Given the description of an element on the screen output the (x, y) to click on. 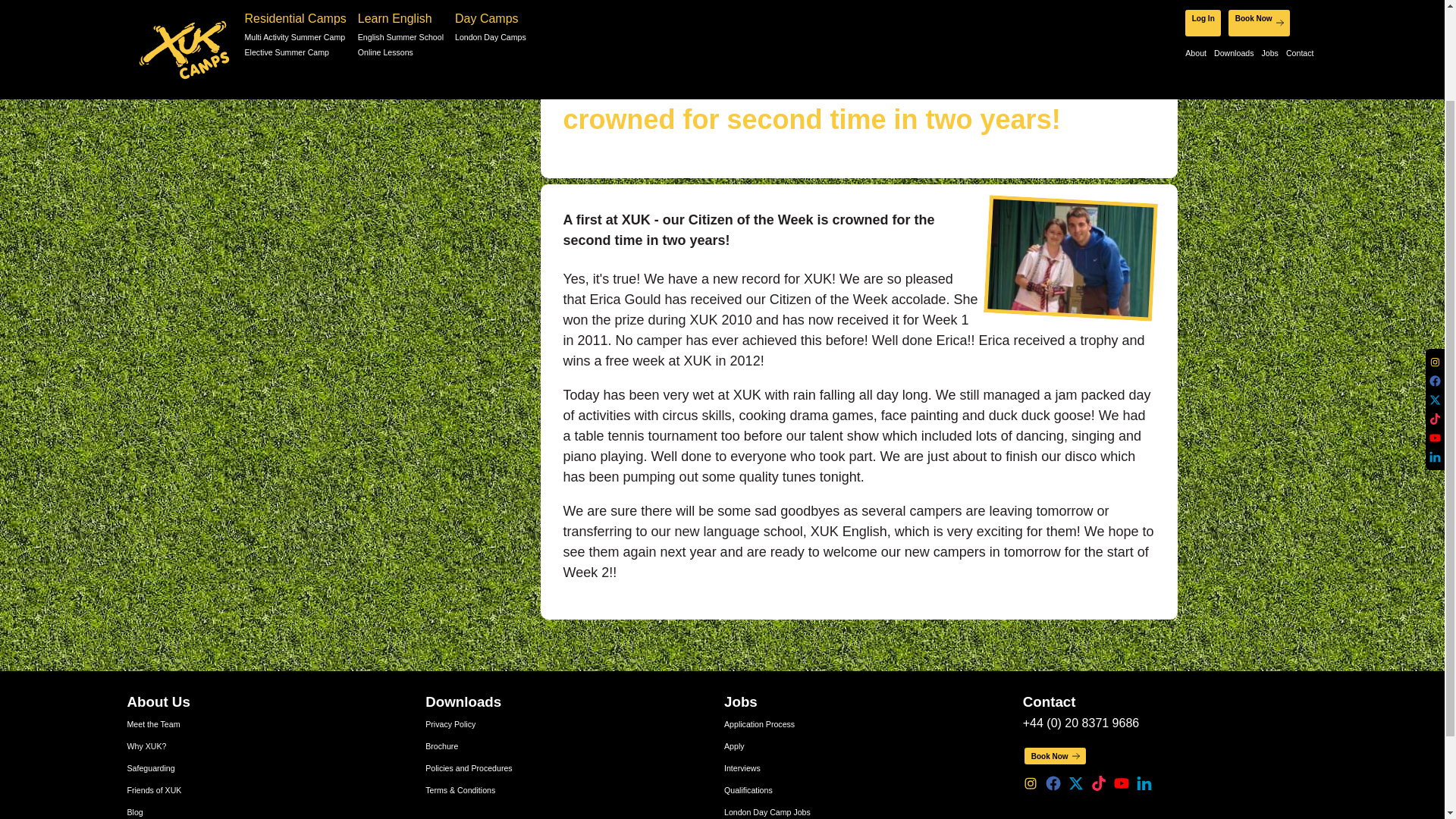
Facebook profile (1435, 265)
YouTube account (1435, 321)
Facebook profile (1053, 783)
Twitter account (1435, 283)
LinkedIn account (1144, 783)
TikTok account (1098, 783)
Twitter account (1075, 783)
YouTube account (1121, 783)
TikTok account (1435, 302)
Instagram profile (1030, 783)
